Given the description of an element on the screen output the (x, y) to click on. 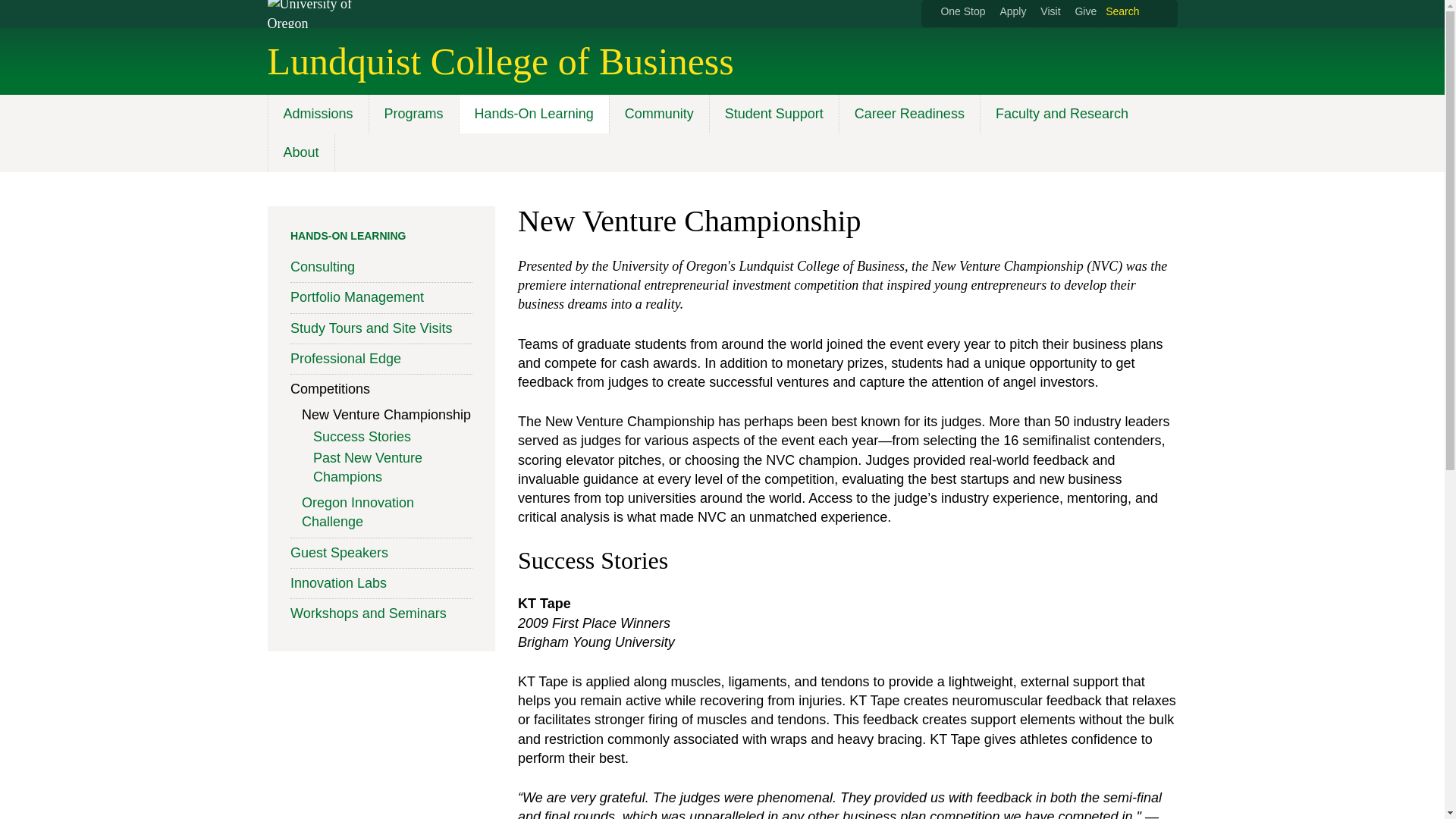
Apply (1012, 10)
Visit (1050, 10)
Search (1131, 11)
Give (1085, 10)
Lundquist College of BusinessHome (499, 61)
One Stop (962, 10)
